Given the description of an element on the screen output the (x, y) to click on. 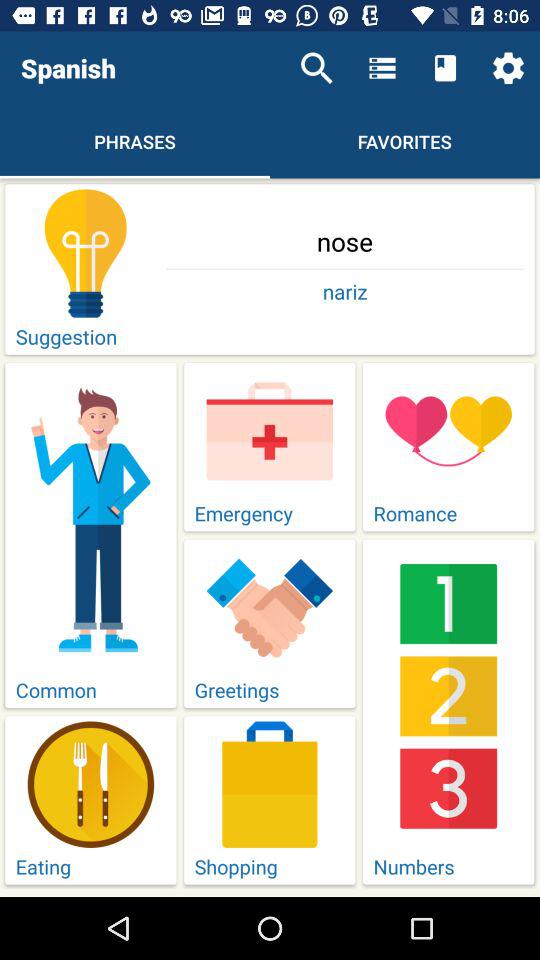
select the item above nose (316, 67)
